Given the description of an element on the screen output the (x, y) to click on. 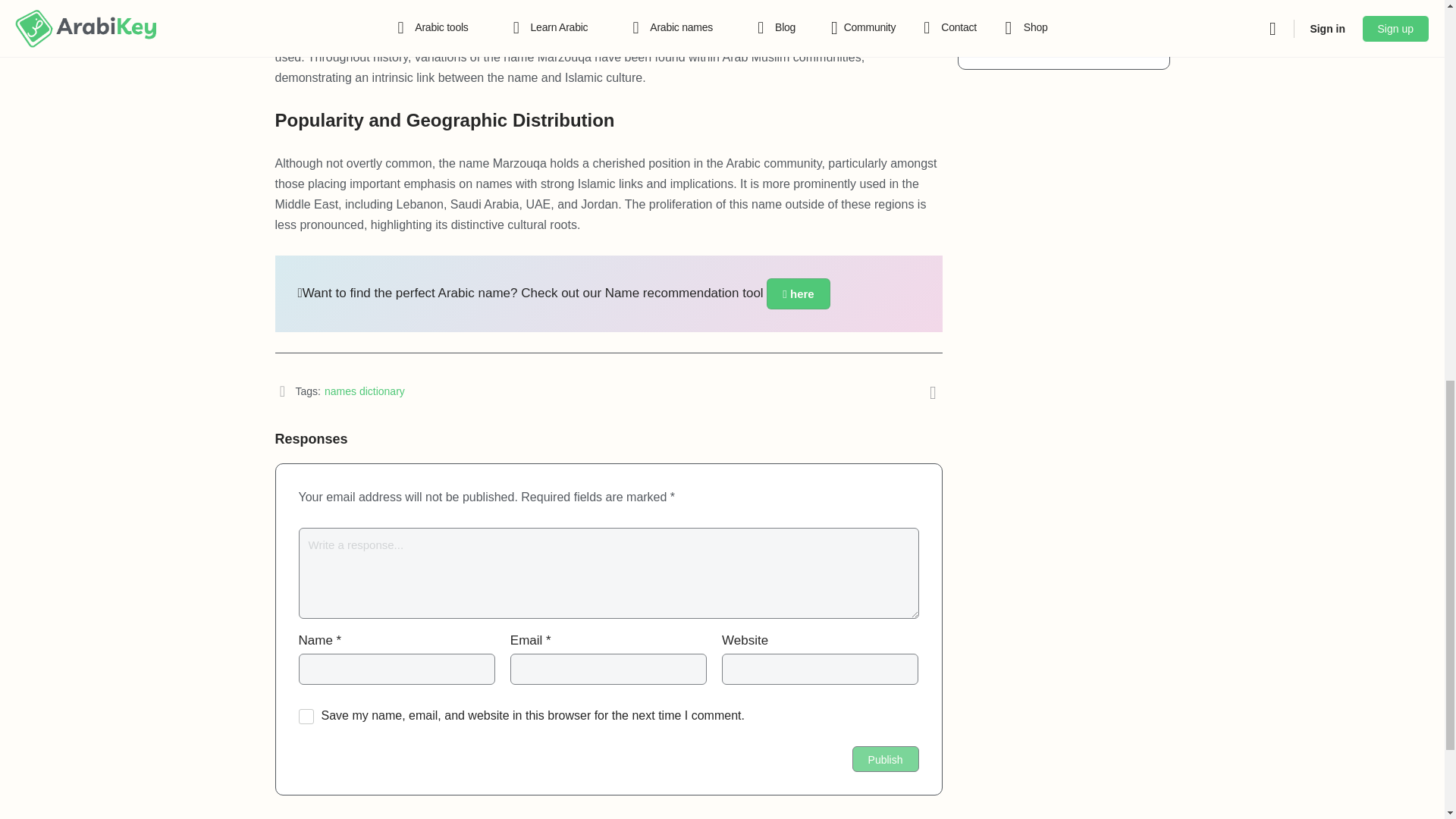
Publish (884, 759)
